Given the description of an element on the screen output the (x, y) to click on. 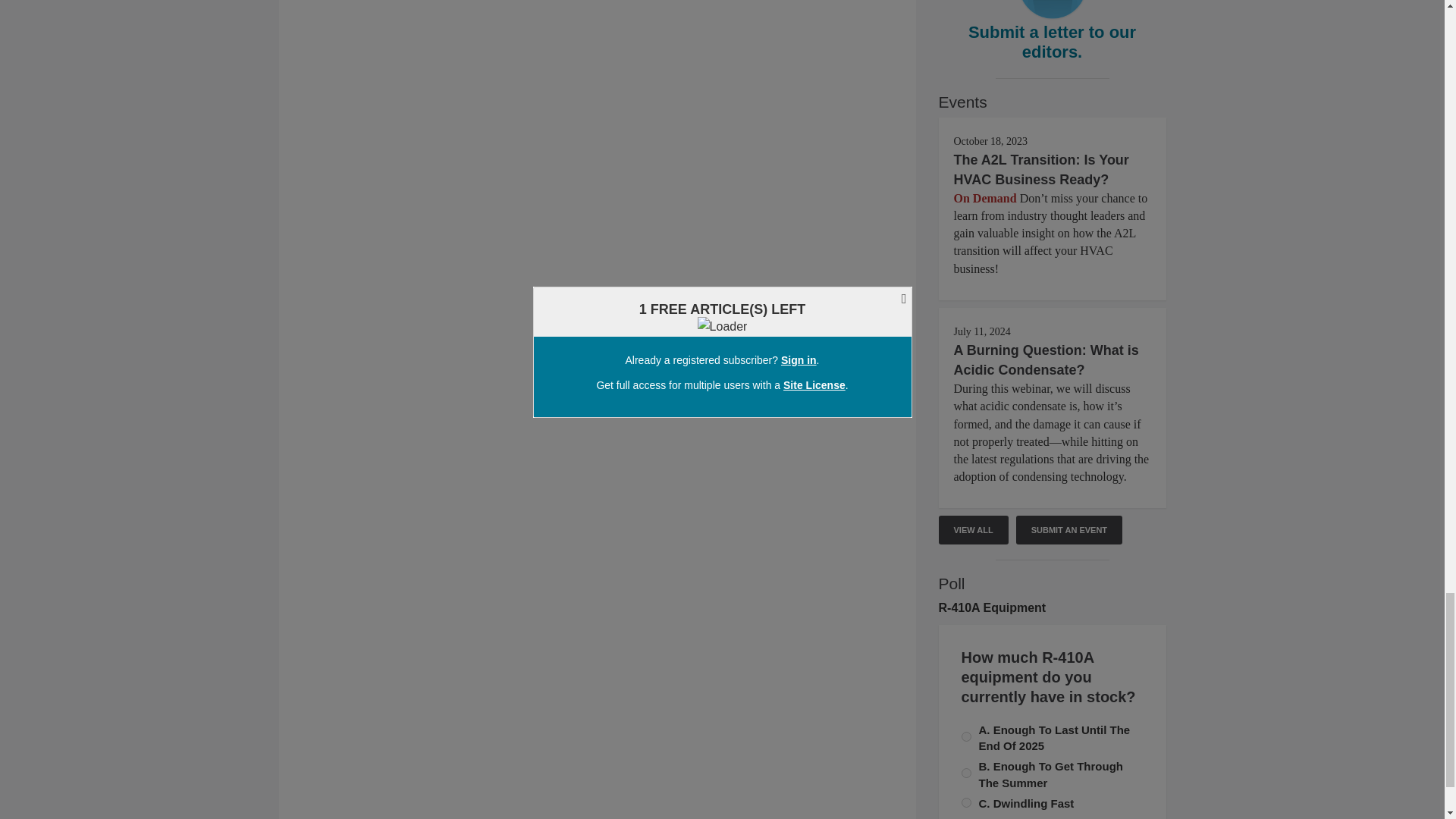
A Burning Question: What is Acidic Condensate? (1045, 360)
598 (965, 802)
The A2L Transition: Is Your HVAC Business Ready? (1041, 169)
597 (965, 737)
596 (965, 773)
